Given the description of an element on the screen output the (x, y) to click on. 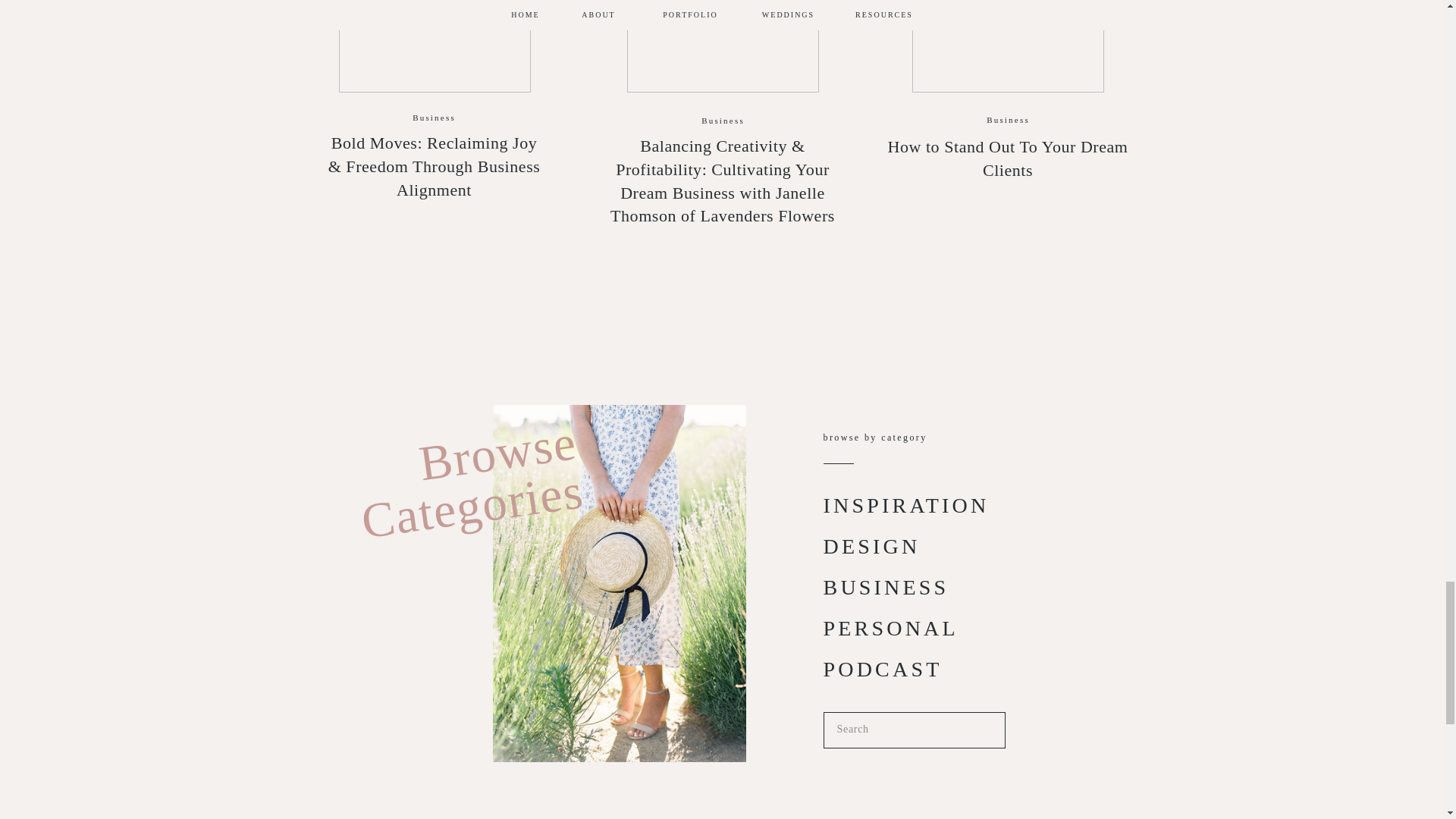
How to Stand Out To Your Dream Clients (1007, 46)
